Given the description of an element on the screen output the (x, y) to click on. 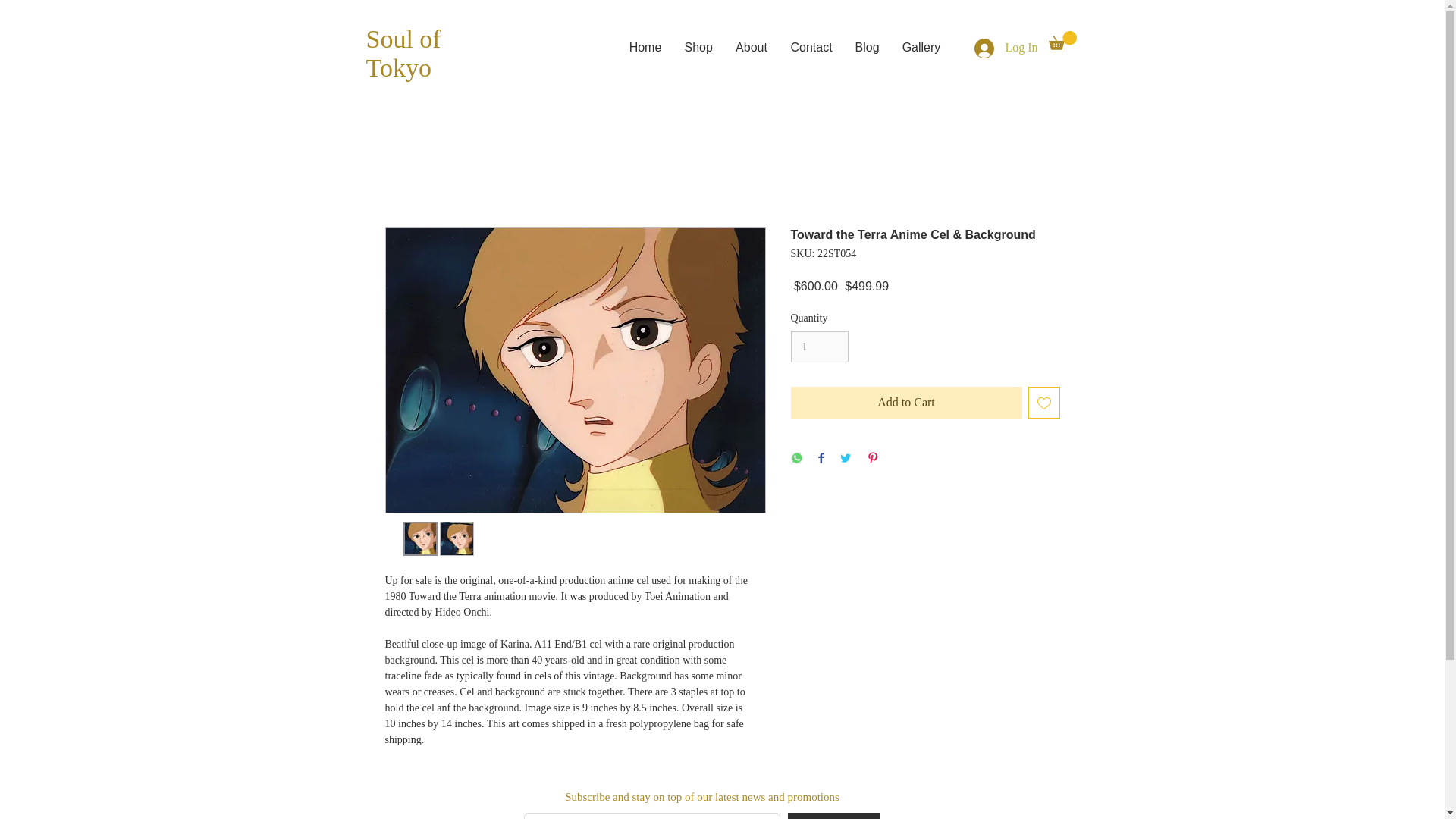
Shop (697, 47)
About (750, 47)
1 (818, 346)
Blog (866, 47)
Subscribe (833, 816)
Soul of Tokyo (403, 53)
Contact (811, 47)
Log In (1005, 47)
Add to Cart (906, 402)
Home (644, 47)
Gallery (920, 47)
